Given the description of an element on the screen output the (x, y) to click on. 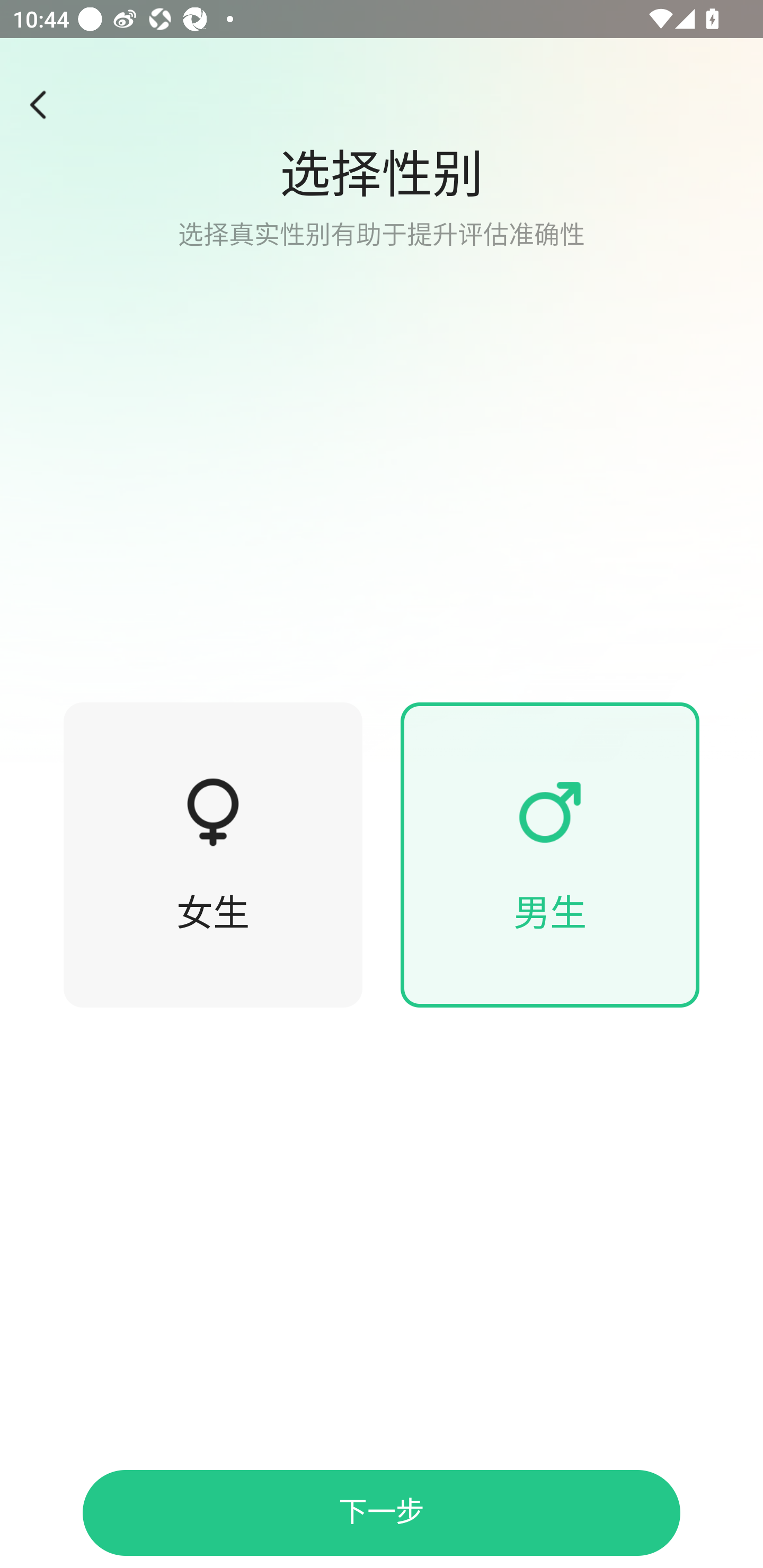
1 (381, 381)
1 (44, 104)
1 女生 (212, 855)
1 男生 (549, 855)
1 (212, 811)
1 (549, 811)
下一步 (381, 1512)
